Given the description of an element on the screen output the (x, y) to click on. 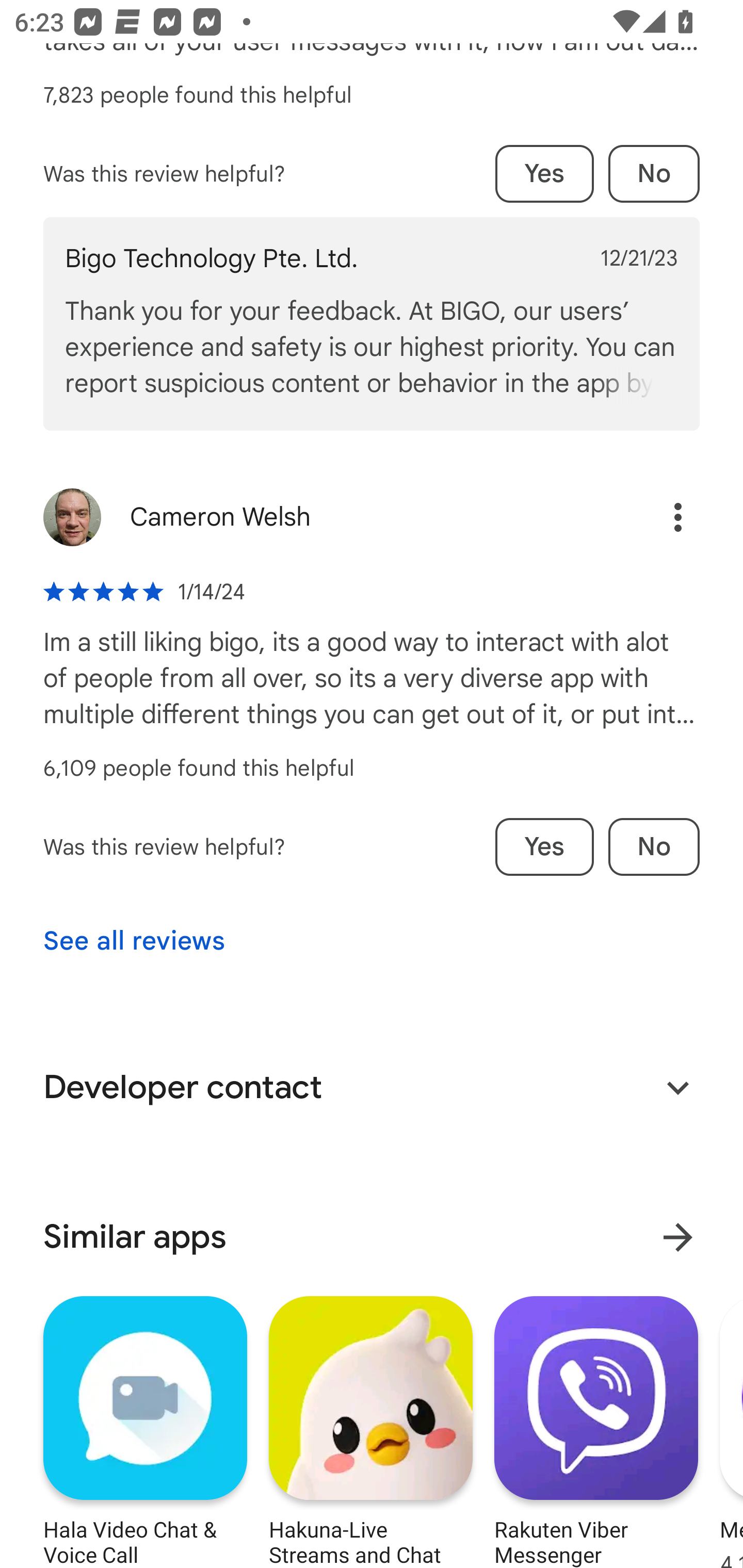
Yes (544, 173)
No (653, 173)
Options (677, 517)
Yes (544, 847)
No (653, 847)
See all reviews (134, 940)
Developer contact
 Expand (371, 1087)
Expand (677, 1088)
Similar apps
 More results for Similar apps (371, 1236)
More results for Similar apps (677, 1237)
App: Rakuten Viber Messenger
Star rating: 4.5


 (595, 1429)
